Given the description of an element on the screen output the (x, y) to click on. 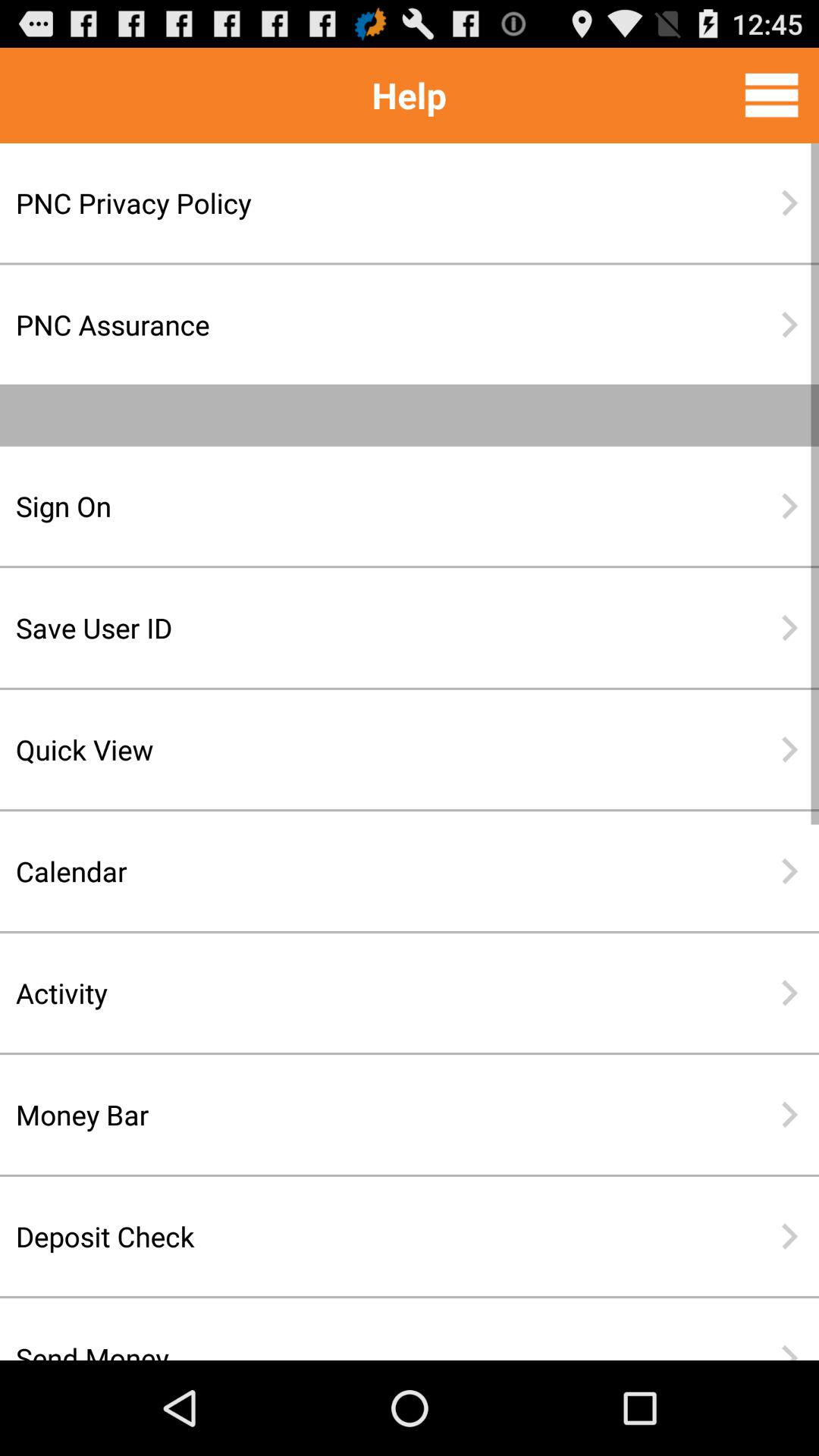
launch the item to the right of sign on item (789, 506)
